Given the description of an element on the screen output the (x, y) to click on. 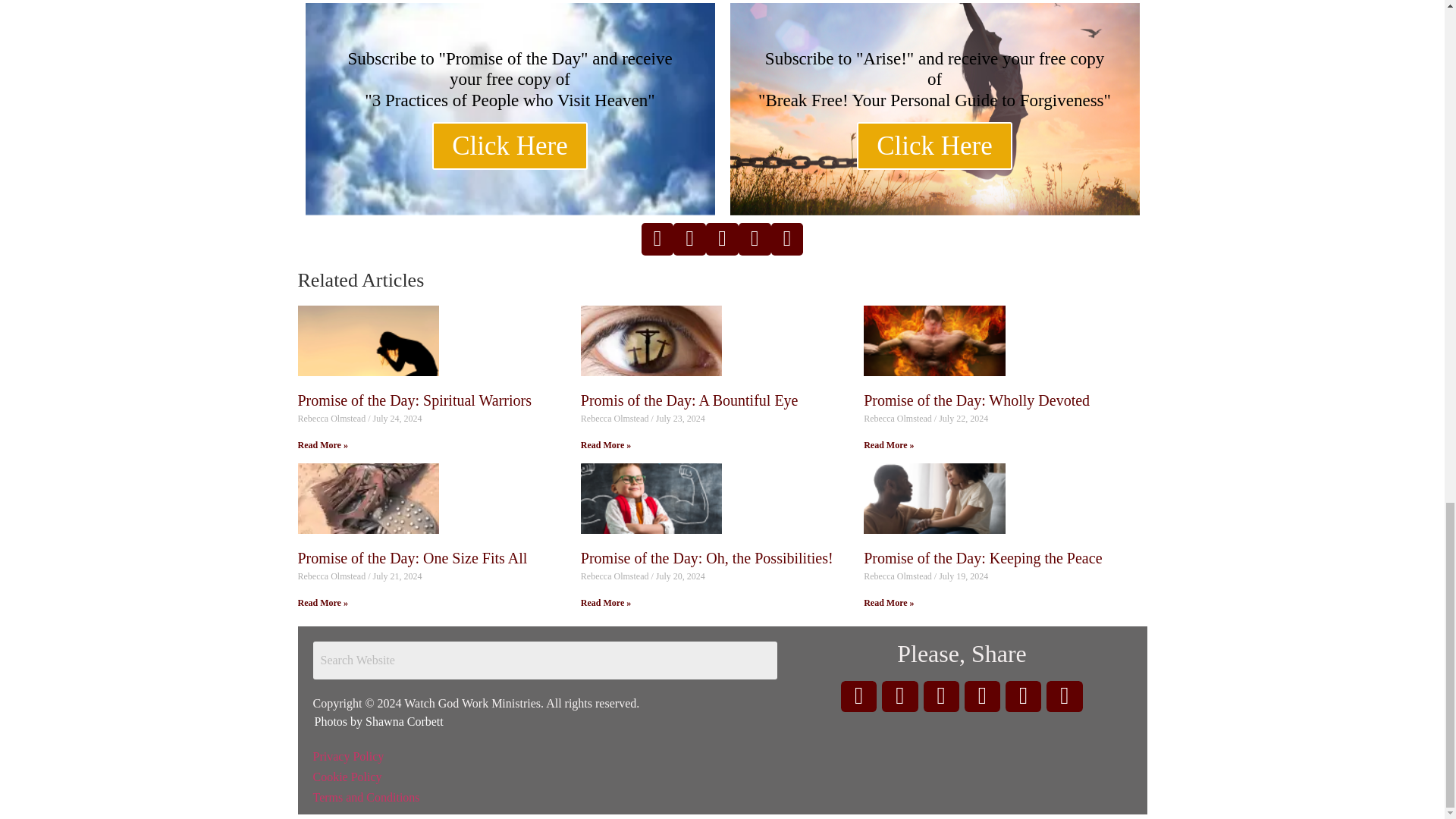
Promise of the Day: Spiritual Warriors (414, 400)
Privacy Policy  (348, 756)
Click Here (510, 145)
Cookie Policy  (347, 776)
Click Here (934, 145)
Terms and Conditions  (366, 797)
Search (545, 660)
Related Articles (360, 280)
